Given the description of an element on the screen output the (x, y) to click on. 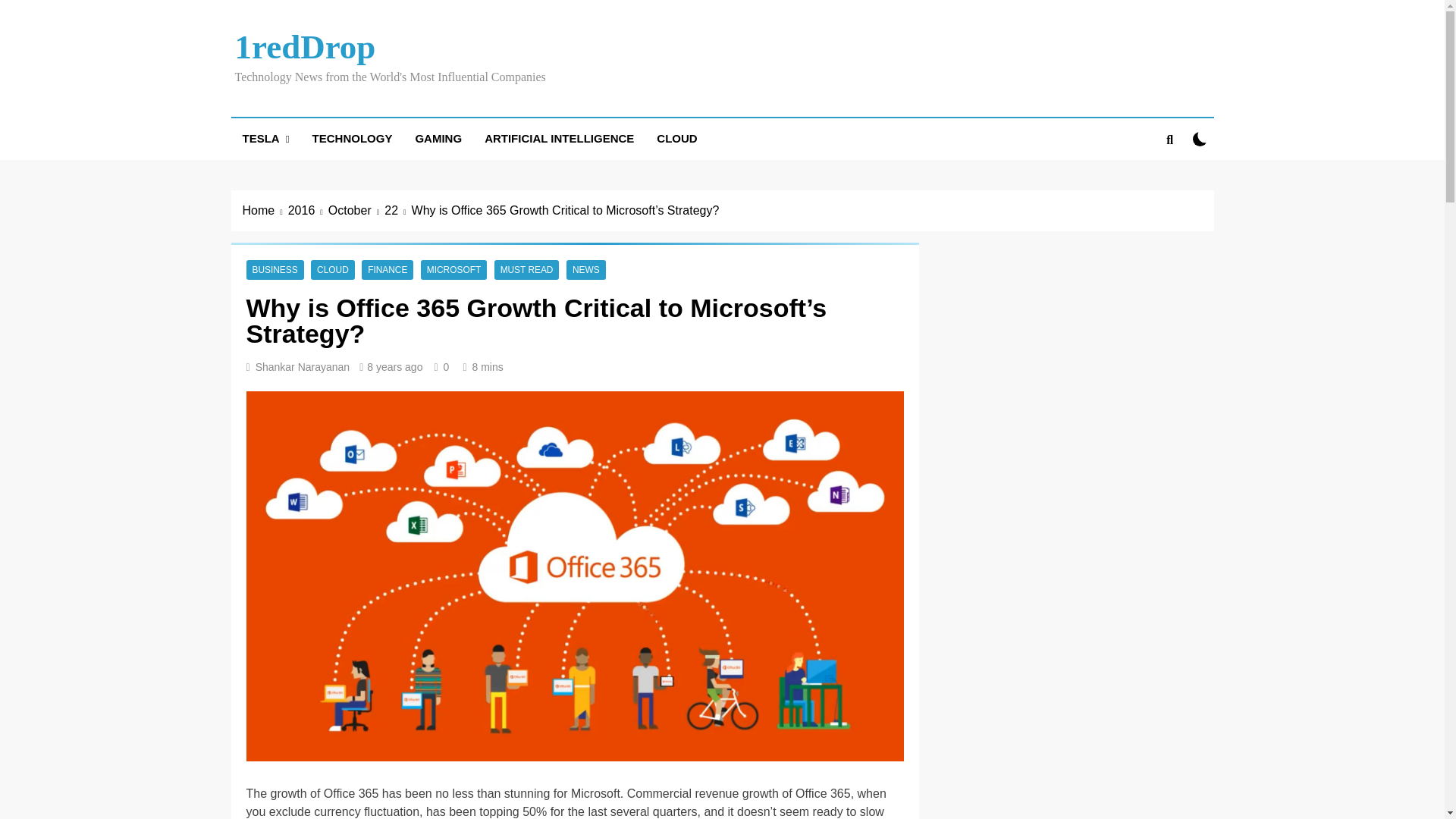
CLOUD (333, 269)
TESLA (264, 138)
on (1199, 138)
BUSINESS (274, 269)
NEWS (585, 269)
CLOUD (676, 137)
October (356, 210)
2016 (308, 210)
MUST READ (526, 269)
GAMING (438, 137)
22 (397, 210)
MICROSOFT (453, 269)
1redDrop (304, 46)
Shankar Narayanan (303, 367)
TECHNOLOGY (352, 137)
